Given the description of an element on the screen output the (x, y) to click on. 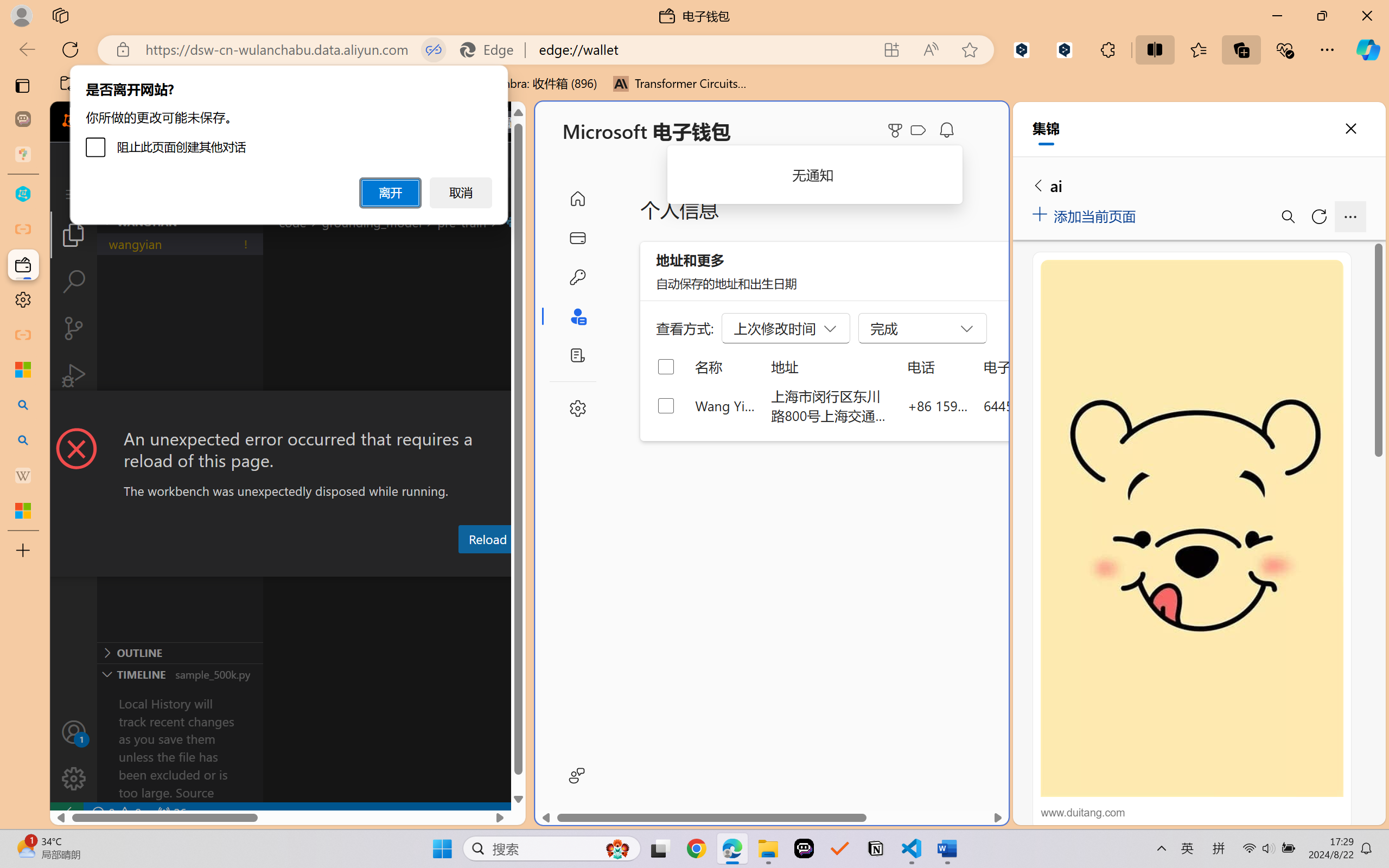
Debug Console (Ctrl+Shift+Y) (463, 565)
Close Dialog (520, 410)
+86 159 0032 4640 (938, 405)
Class: ___1lmltc5 f1agt3bx f12qytpq (917, 130)
